Given the description of an element on the screen output the (x, y) to click on. 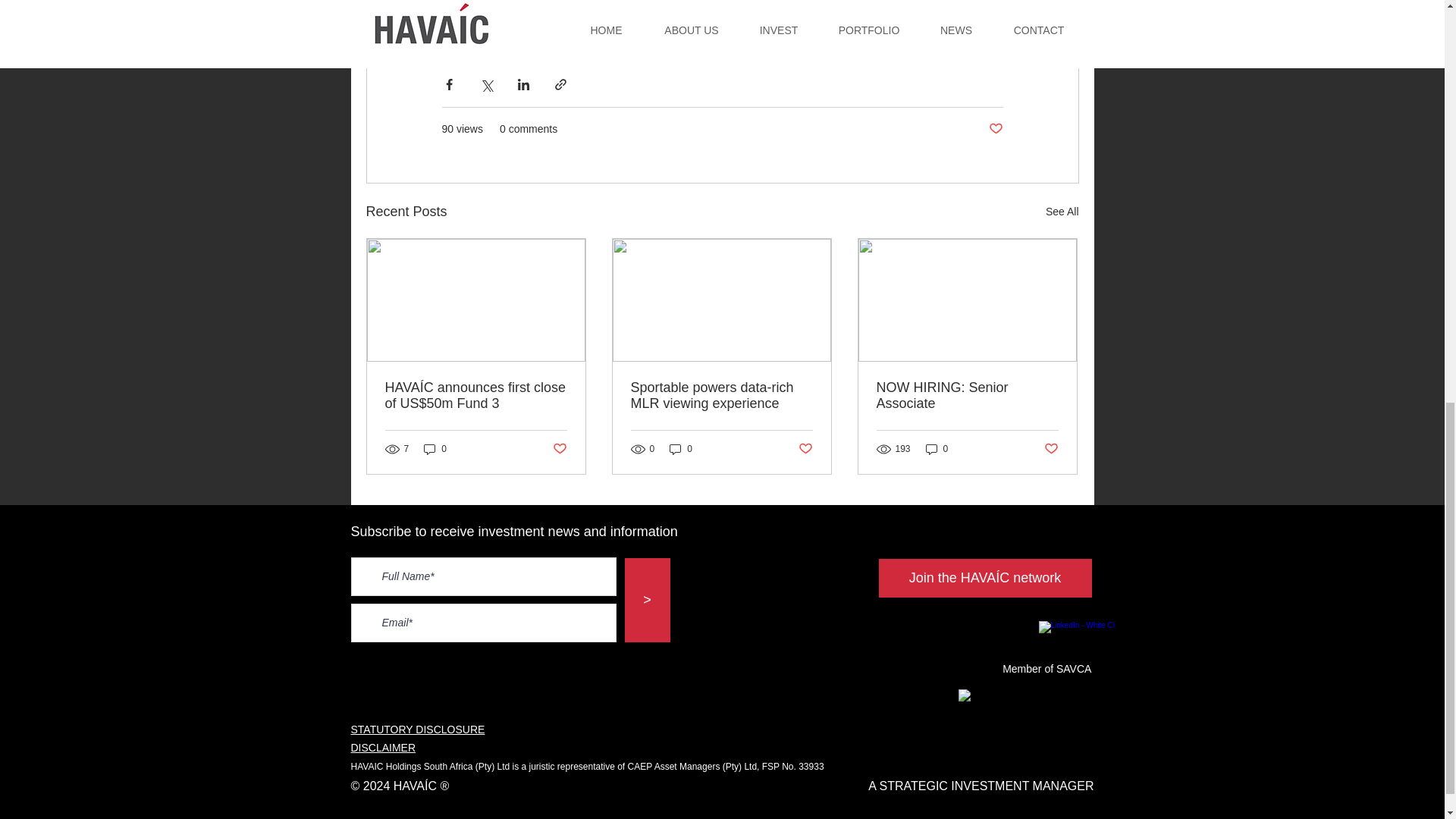
0 (681, 448)
Post not marked as liked (995, 129)
Post not marked as liked (558, 449)
See All (1061, 211)
Sportable powers data-rich MLR viewing experience (721, 395)
0 (435, 448)
Post not marked as liked (804, 449)
